Given the description of an element on the screen output the (x, y) to click on. 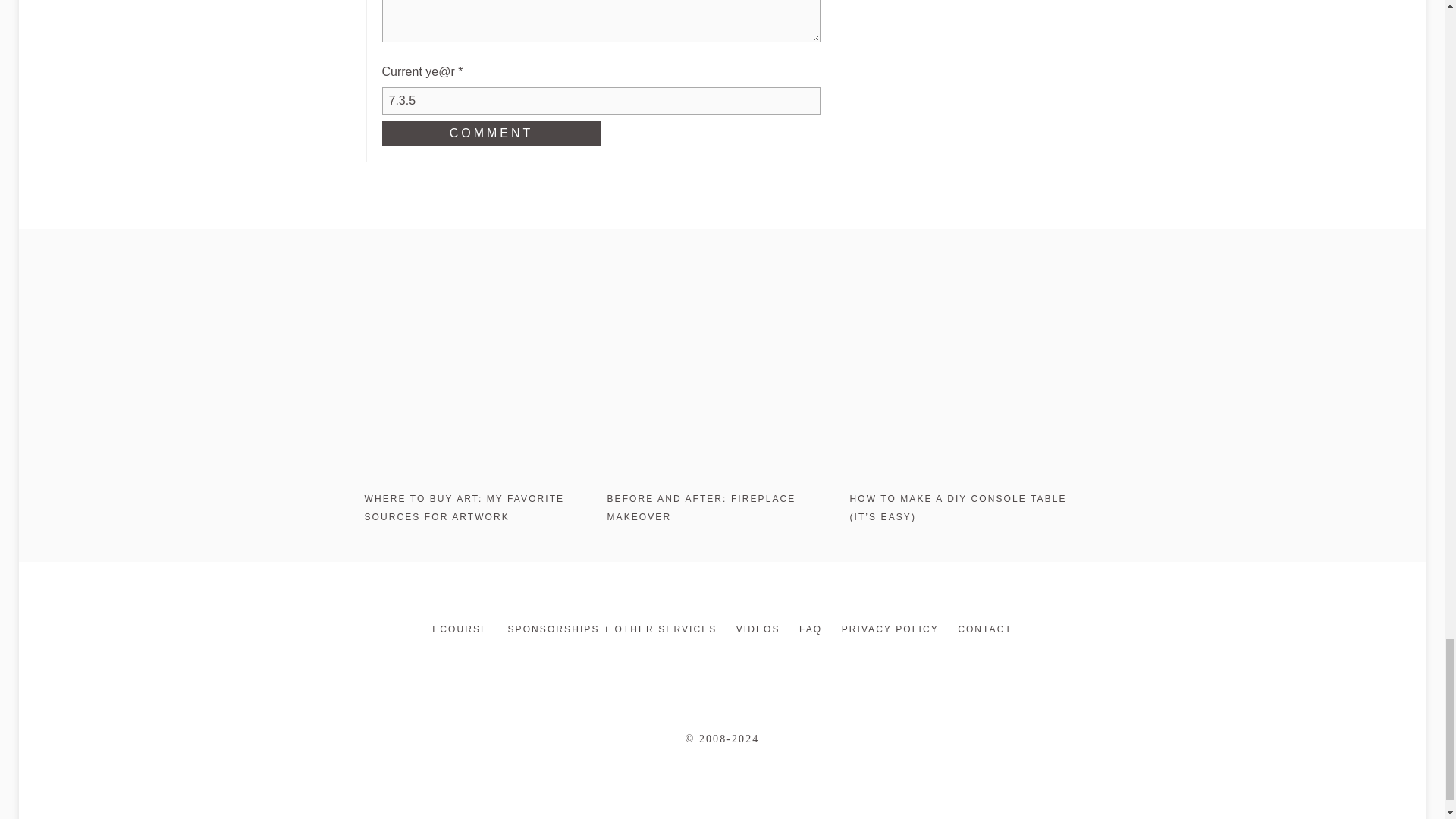
Blog Lovin (762, 666)
Instagram (653, 666)
YouTube (790, 666)
7.3.5 (601, 100)
Facebook (708, 666)
Pinterest (680, 666)
YouTube (758, 629)
Facebook (735, 666)
Comment (491, 133)
